Given the description of an element on the screen output the (x, y) to click on. 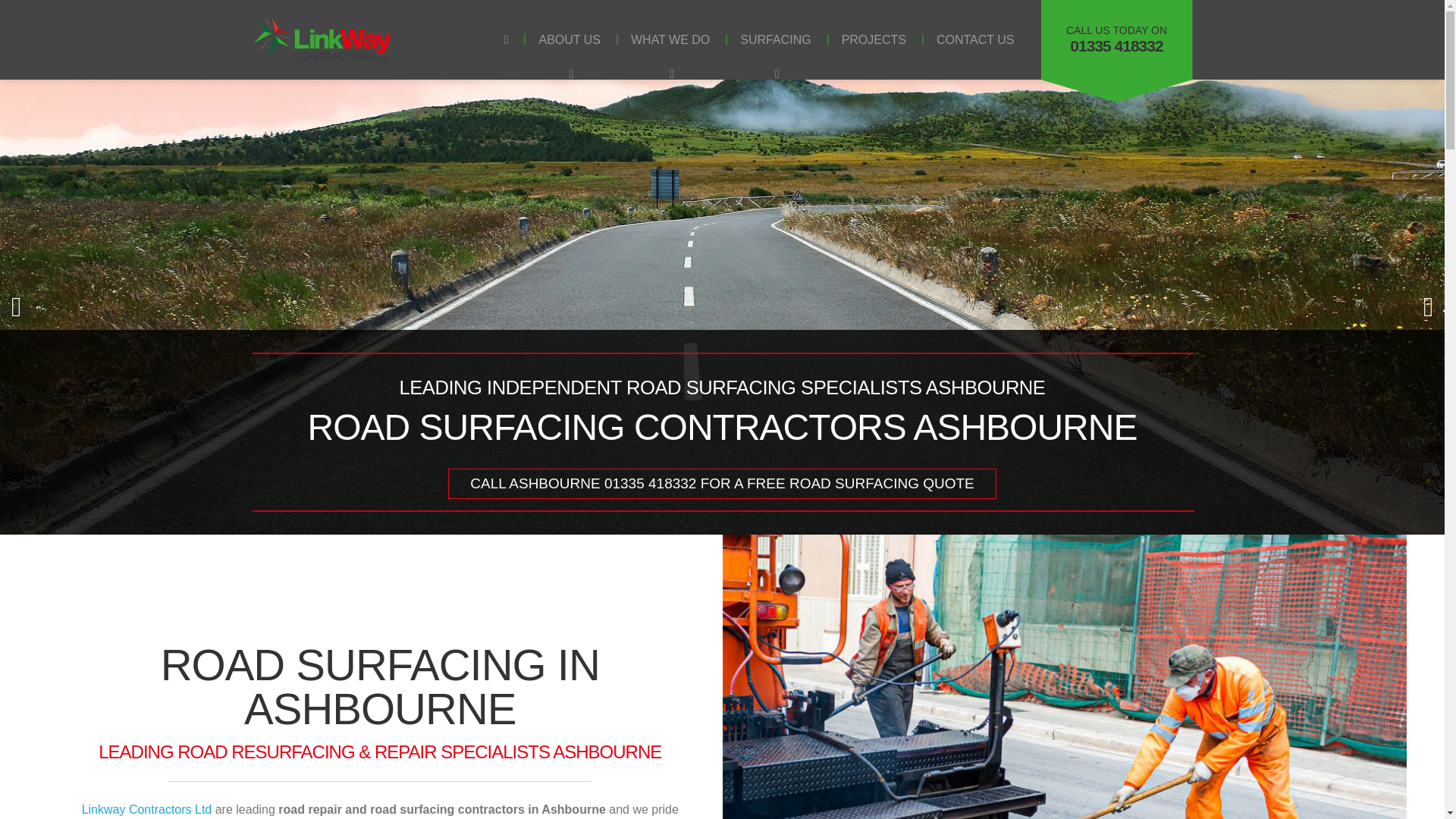
ABOUT US (568, 39)
WHAT WE DO (670, 39)
Linkway Contractors Ltd (146, 809)
SURFACING (775, 39)
CONTACT US (1116, 39)
PROJECTS (975, 39)
CALL ASHBOURNE 01335 418332 FOR A FREE ROAD SURFACING QUOTE (874, 39)
Professional surfacing company Ashbourne (722, 483)
